Given the description of an element on the screen output the (x, y) to click on. 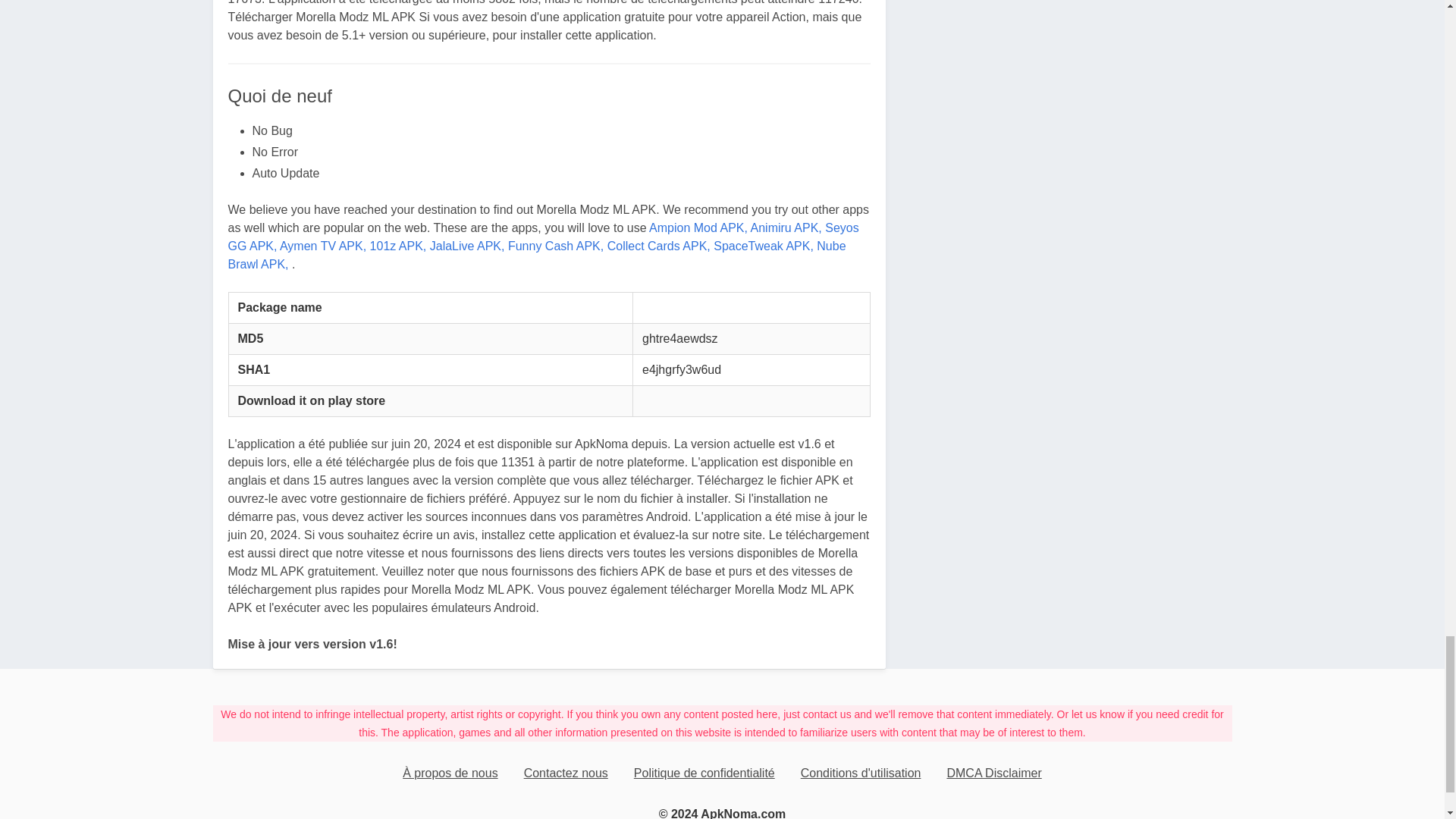
Nube Brawl APK APK (536, 255)
Collect Cards APK APK (658, 245)
Ampion Mod APK APK (698, 227)
Seyos GG APK APK (543, 236)
Animiru APK APK (786, 227)
Aymen TV APK APK (322, 245)
101z APK APK (397, 245)
Funny Cash APK APK (556, 245)
JalaLive APK APK (467, 245)
SpaceTweak APK APK (763, 245)
